Given the description of an element on the screen output the (x, y) to click on. 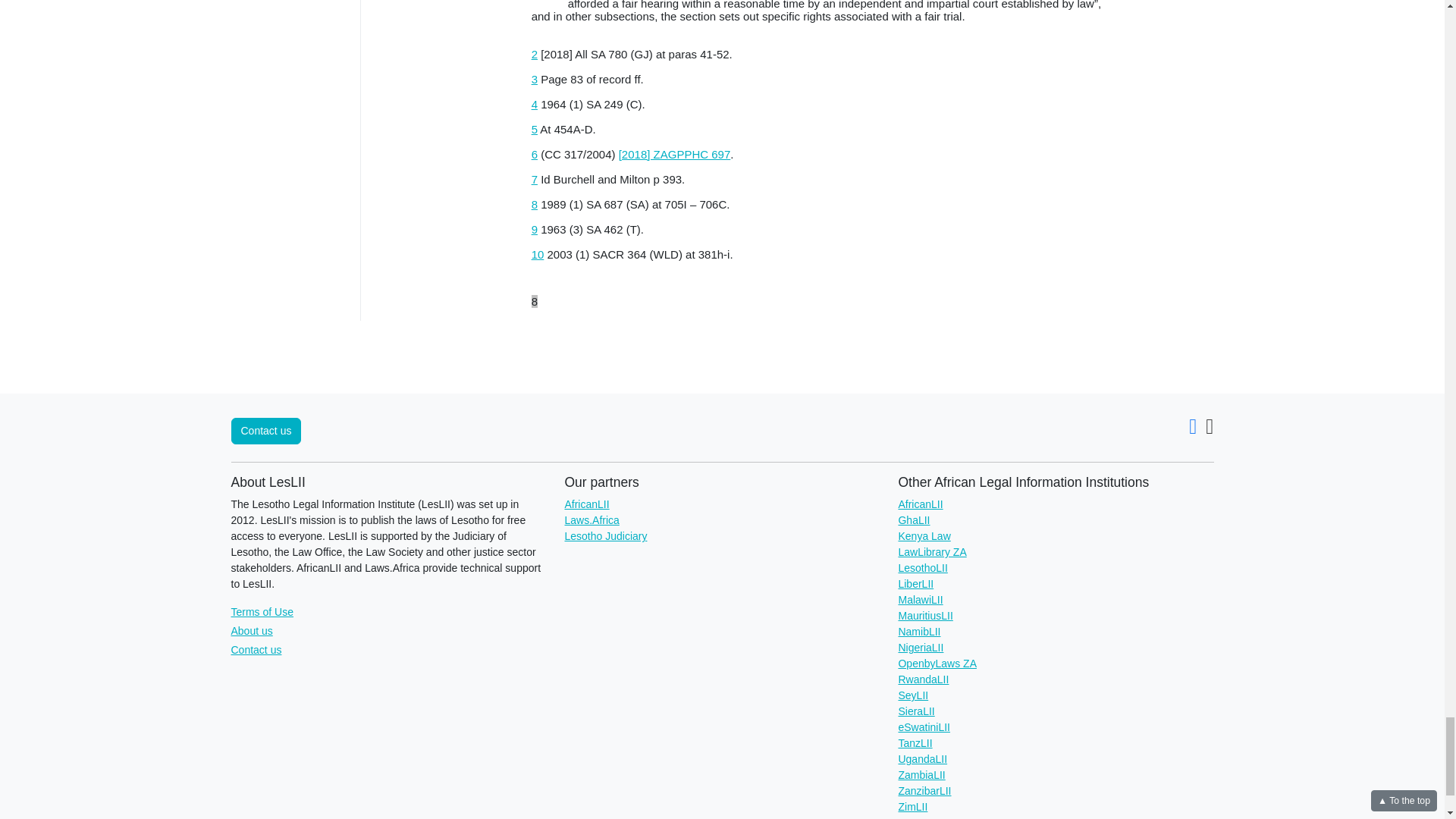
footer (825, 307)
